Given the description of an element on the screen output the (x, y) to click on. 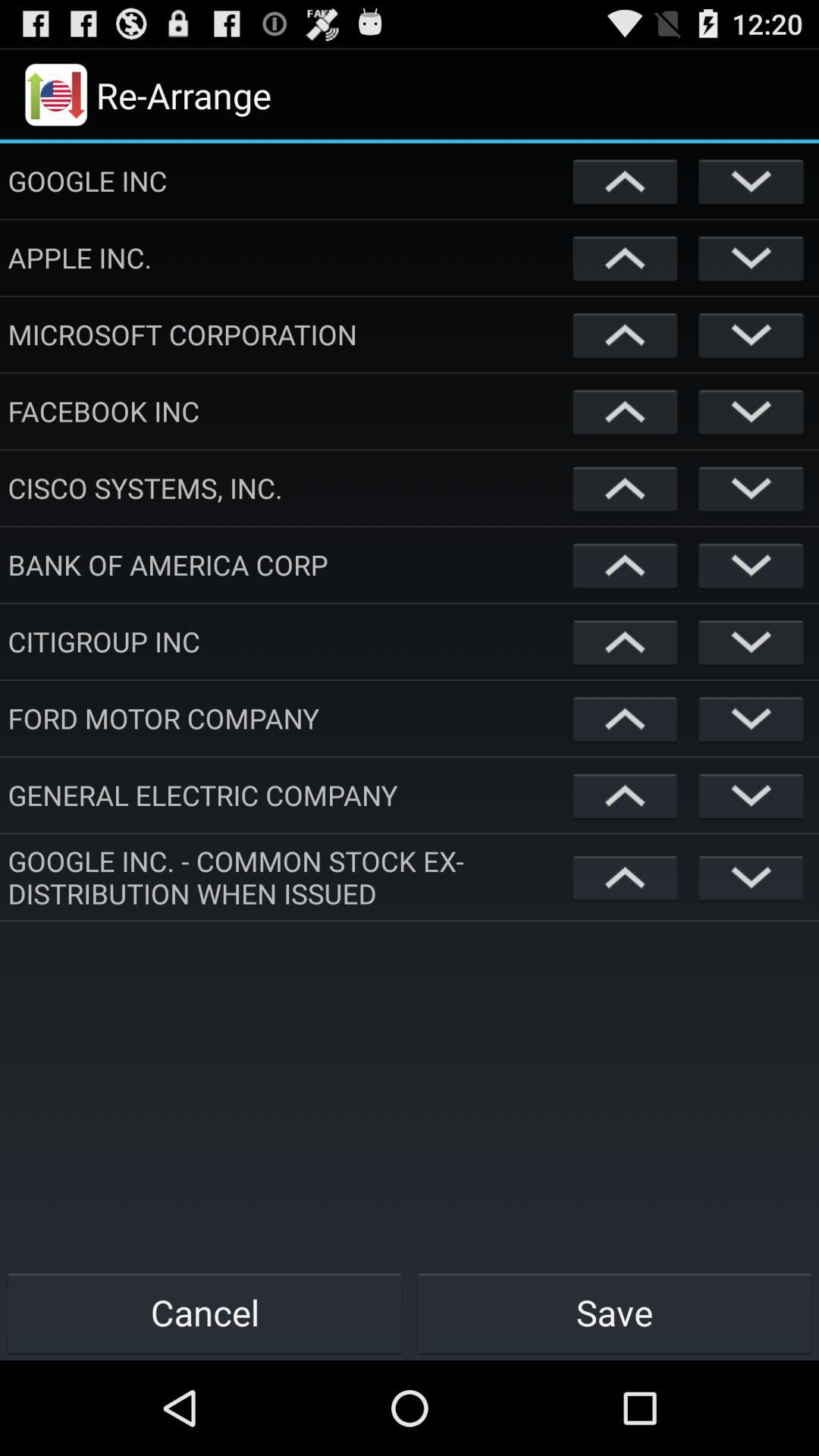
click icon next to cancel button (614, 1312)
